Given the description of an element on the screen output the (x, y) to click on. 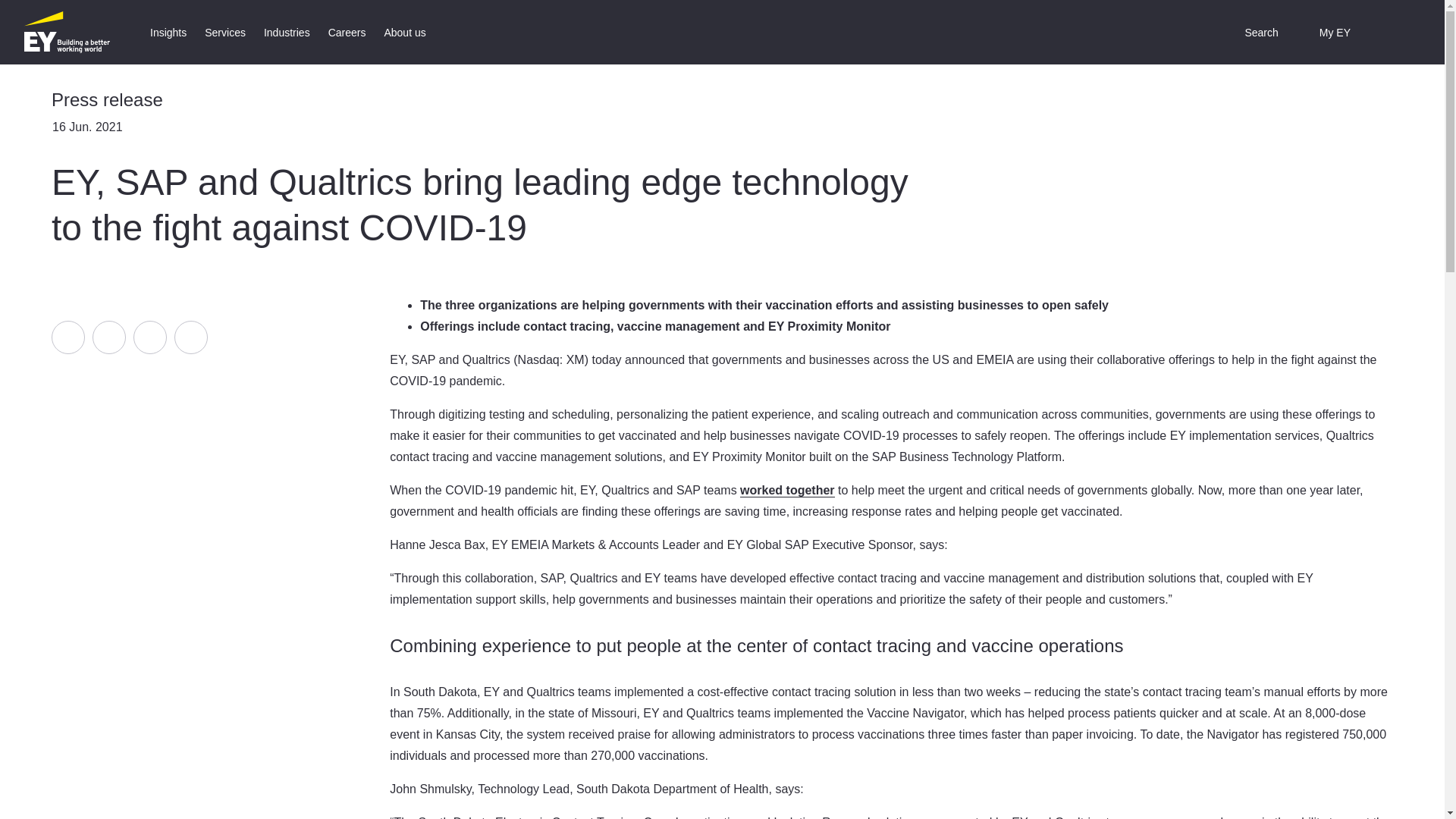
EY Homepage (67, 32)
My EY (1324, 32)
Social Media Share (129, 337)
Copy link (191, 337)
Services (224, 32)
Open country language switcher (1390, 32)
Open search (1250, 32)
Insights (168, 32)
Linkedin (109, 337)
Facebook (67, 337)
